Given the description of an element on the screen output the (x, y) to click on. 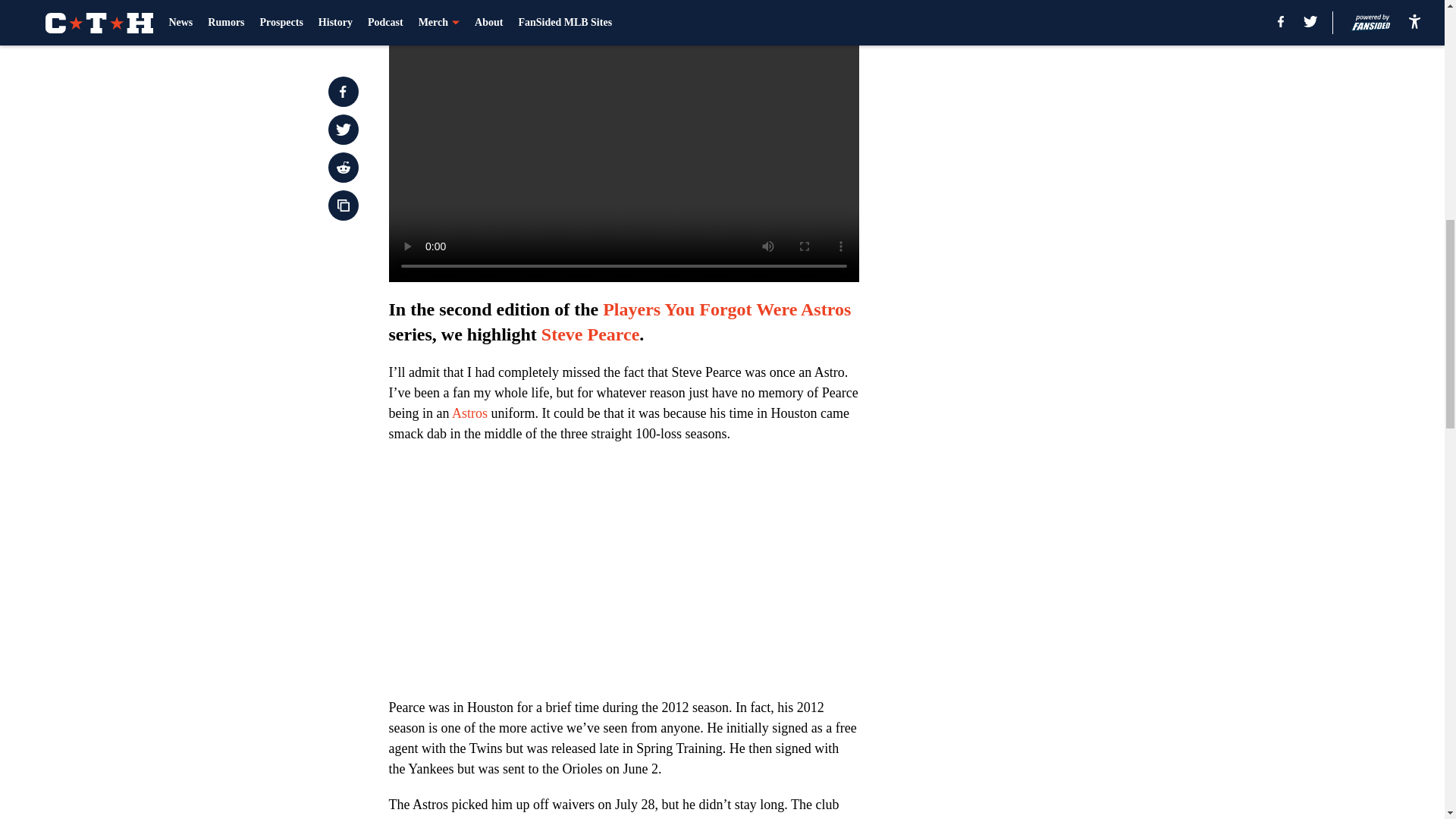
Astros (469, 412)
Steve Pearce (590, 333)
Players You Forgot Were Astros (726, 309)
3rd party ad content (1047, 113)
3rd party ad content (1047, 332)
